Given the description of an element on the screen output the (x, y) to click on. 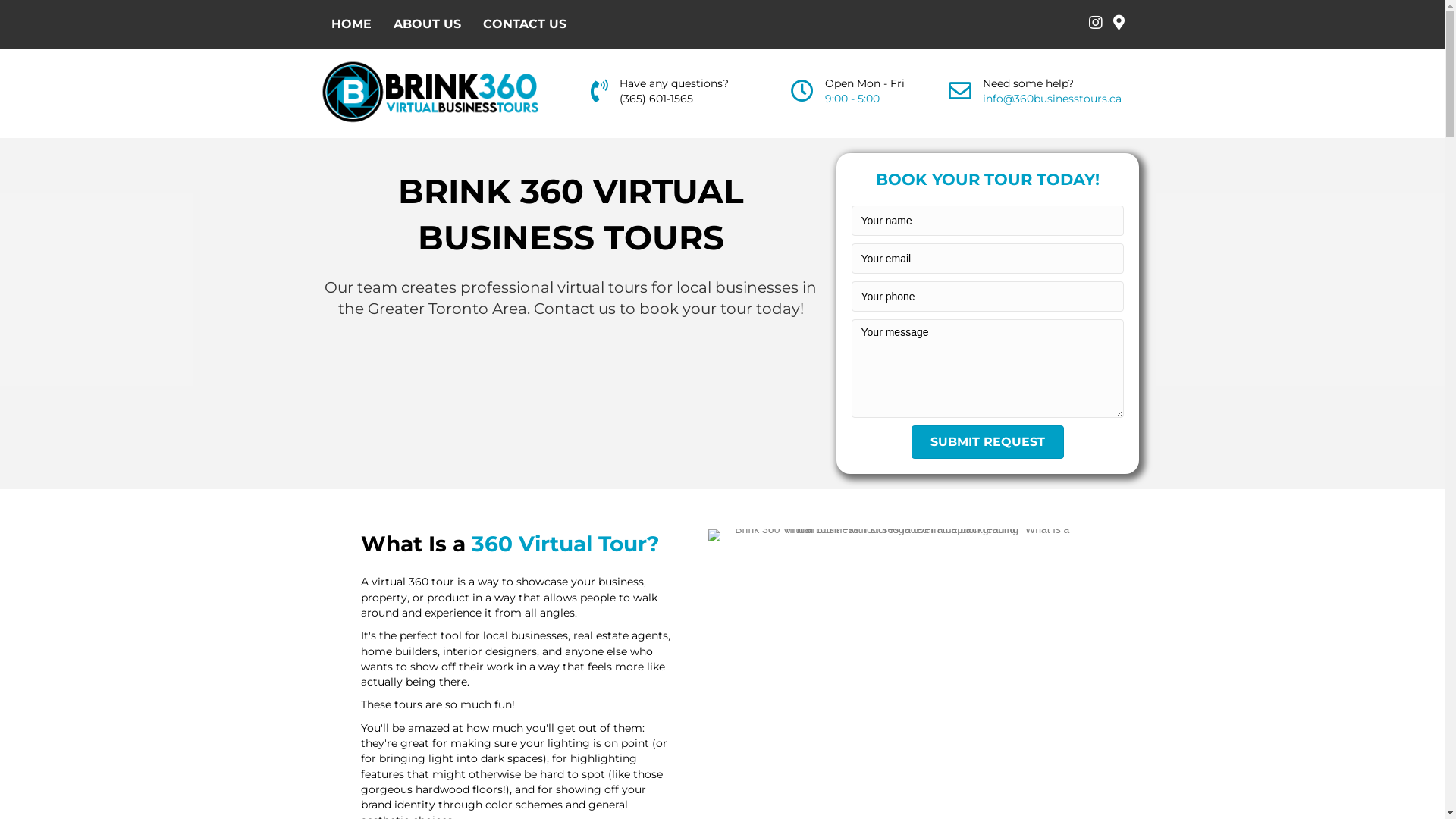
(365) 601-1565 Element type: text (656, 98)
Have any questions? Element type: text (673, 83)
CONTACT US Element type: text (523, 23)
brink360 logo Element type: hover (429, 91)
Virtual Tours For Real Estate Property & Businesses Element type: hover (895, 535)
SUBMIT REQUEST Element type: text (987, 441)
info@360businesstours.ca Element type: text (1051, 98)
HOME Element type: text (350, 23)
ABOUT US Element type: text (426, 23)
